Given the description of an element on the screen output the (x, y) to click on. 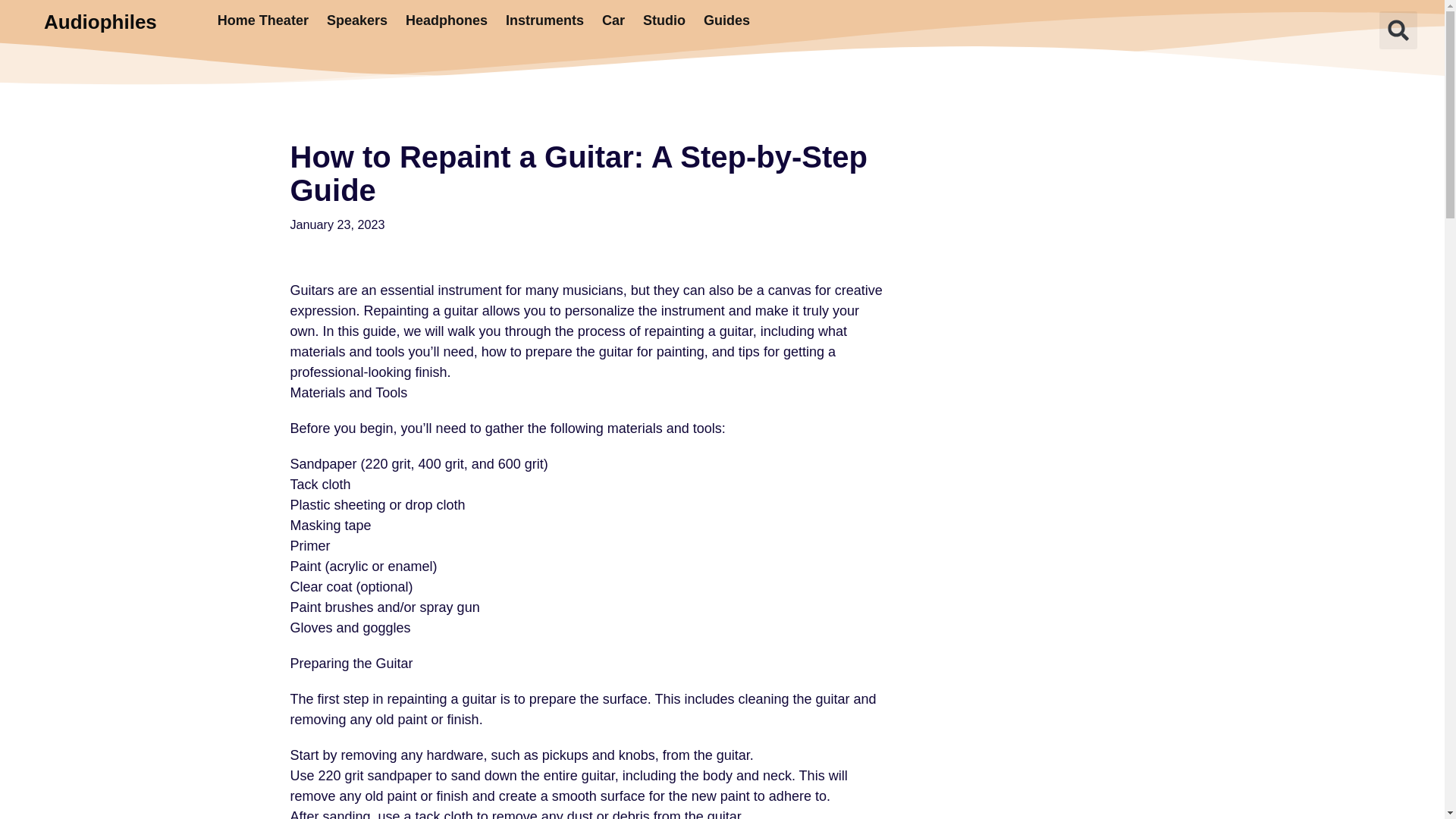
Instruments (544, 20)
Headphones (446, 20)
Speakers (356, 20)
Car (612, 20)
Skip to content (11, 31)
Home Theater (262, 20)
Guides (726, 20)
Studio (663, 20)
Audiophiles (100, 21)
